Given the description of an element on the screen output the (x, y) to click on. 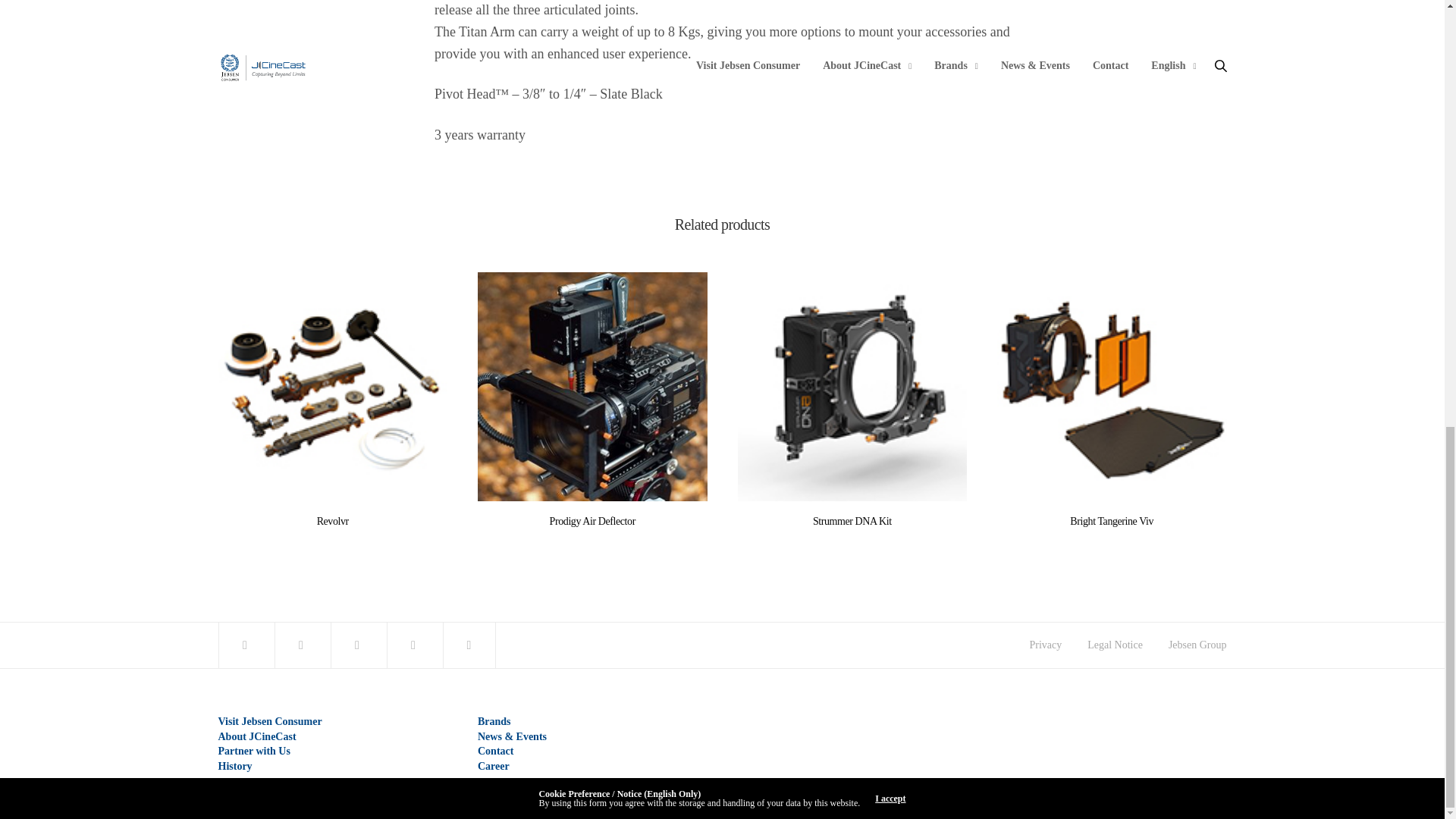
Revolvr (333, 521)
Prodigy Air Deflector (592, 386)
Strummer DNA Kit (851, 386)
Prodigy Air Deflector (592, 521)
Revolvr (333, 386)
